Given the description of an element on the screen output the (x, y) to click on. 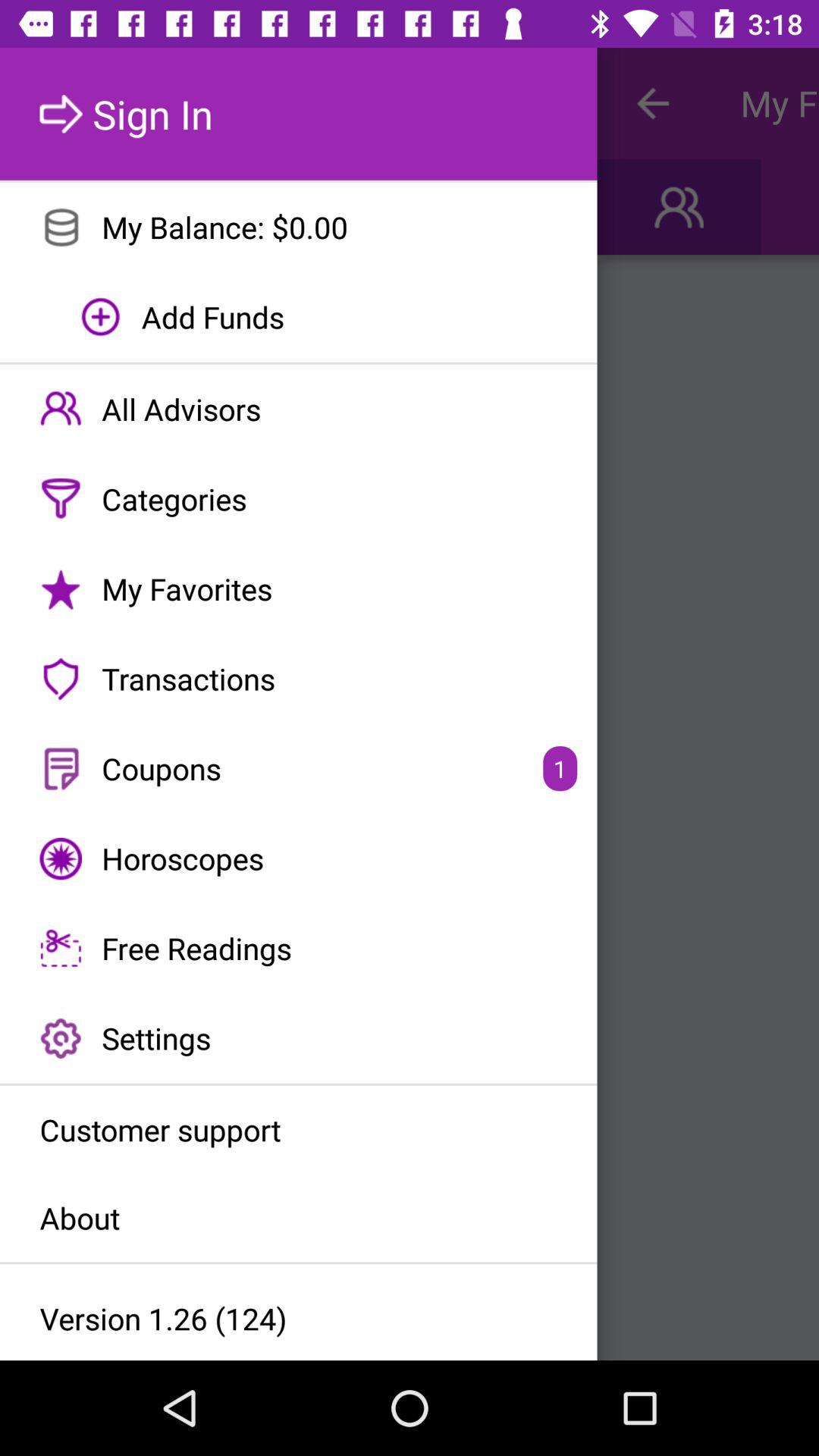
turn off the sign in (298, 113)
